Given the description of an element on the screen output the (x, y) to click on. 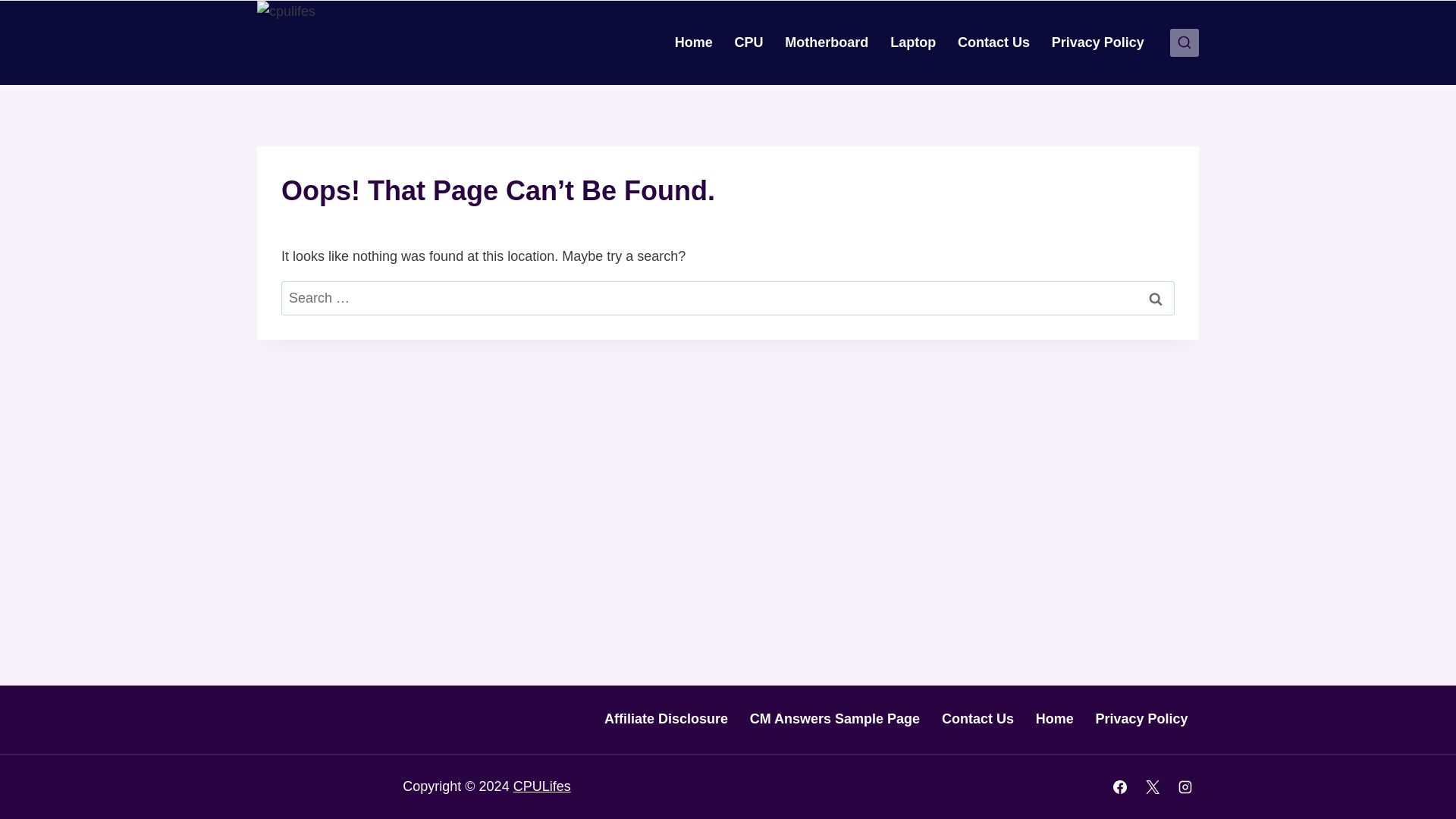
Search (1155, 298)
Motherboard (826, 43)
CPU (748, 43)
CPULifes (541, 785)
Home (1054, 720)
Search (1155, 298)
CM Answers Sample Page (834, 720)
Search (1155, 298)
Contact Us (994, 43)
Contact Us (978, 720)
Privacy Policy (1097, 43)
Privacy Policy (1141, 720)
Laptop (913, 43)
Home (693, 43)
Affiliate Disclosure (665, 720)
